Given the description of an element on the screen output the (x, y) to click on. 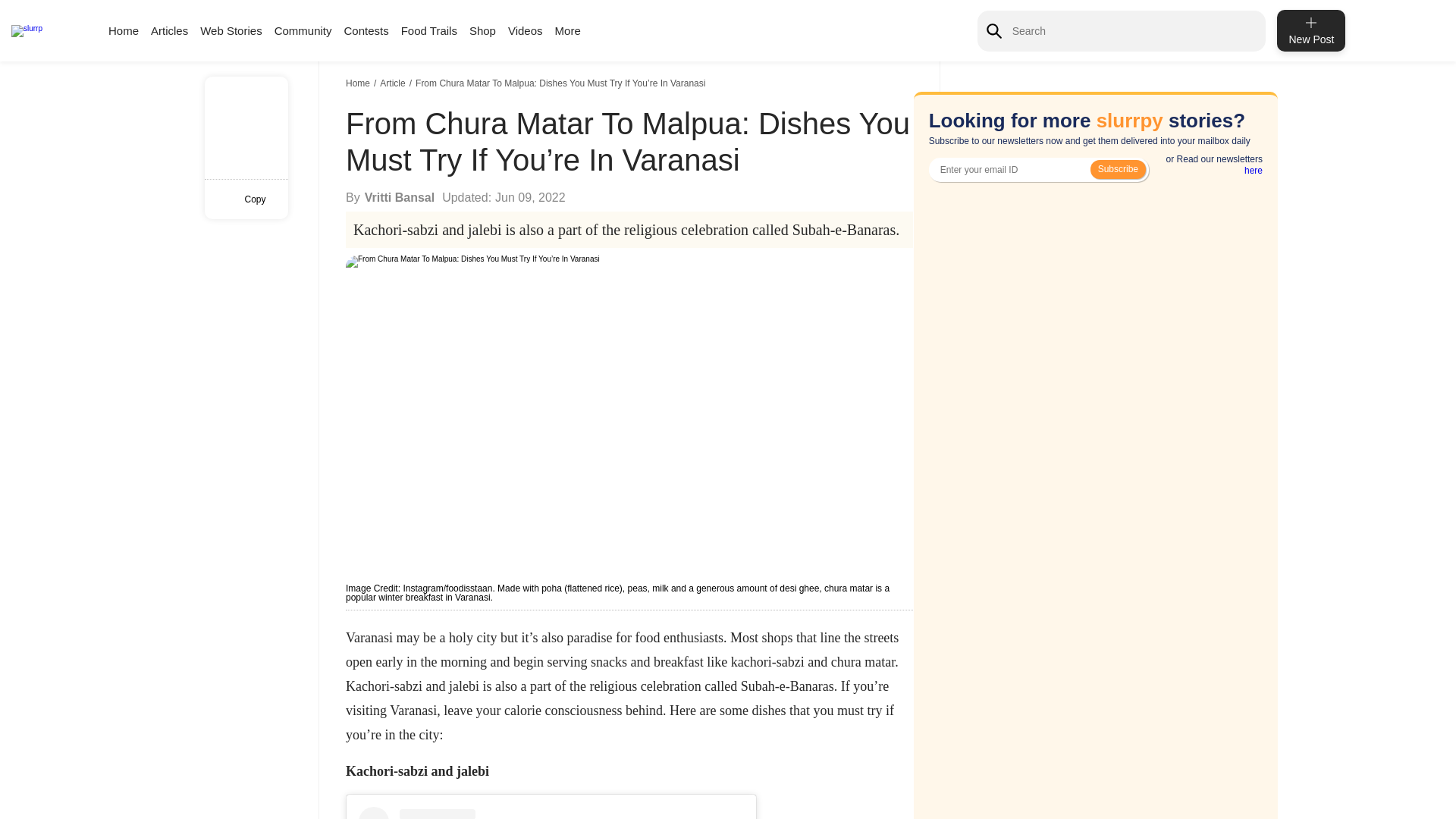
New Post (1310, 30)
Home (122, 30)
Home (360, 82)
Web Stories (231, 30)
Shop (482, 30)
Food Trails (429, 30)
Contests (365, 30)
Community (303, 30)
Articles (169, 30)
Article (394, 82)
